Given the description of an element on the screen output the (x, y) to click on. 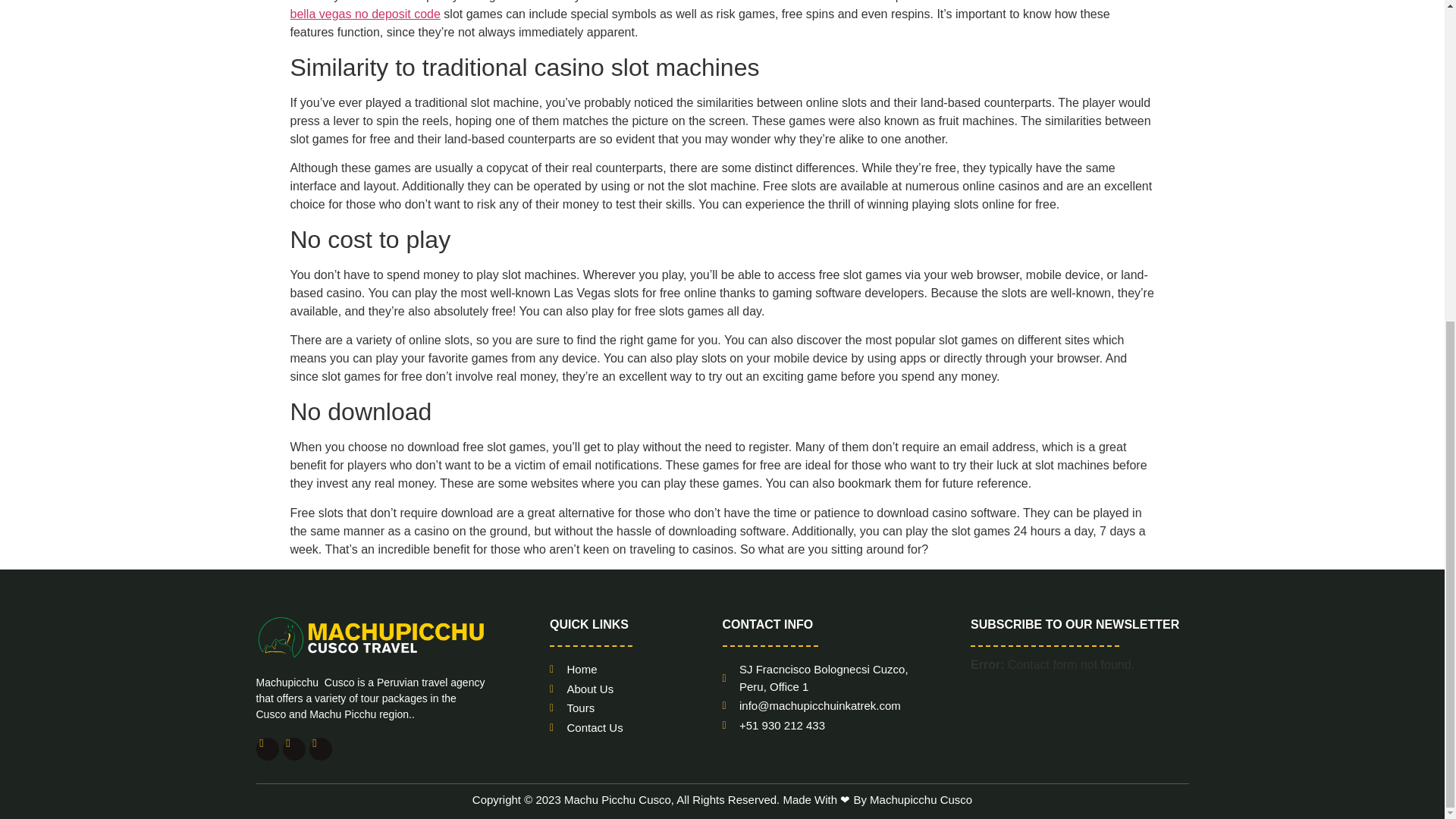
About Us (636, 689)
Contact Us (636, 728)
bella vegas no deposit code (364, 13)
Home (636, 669)
